Given the description of an element on the screen output the (x, y) to click on. 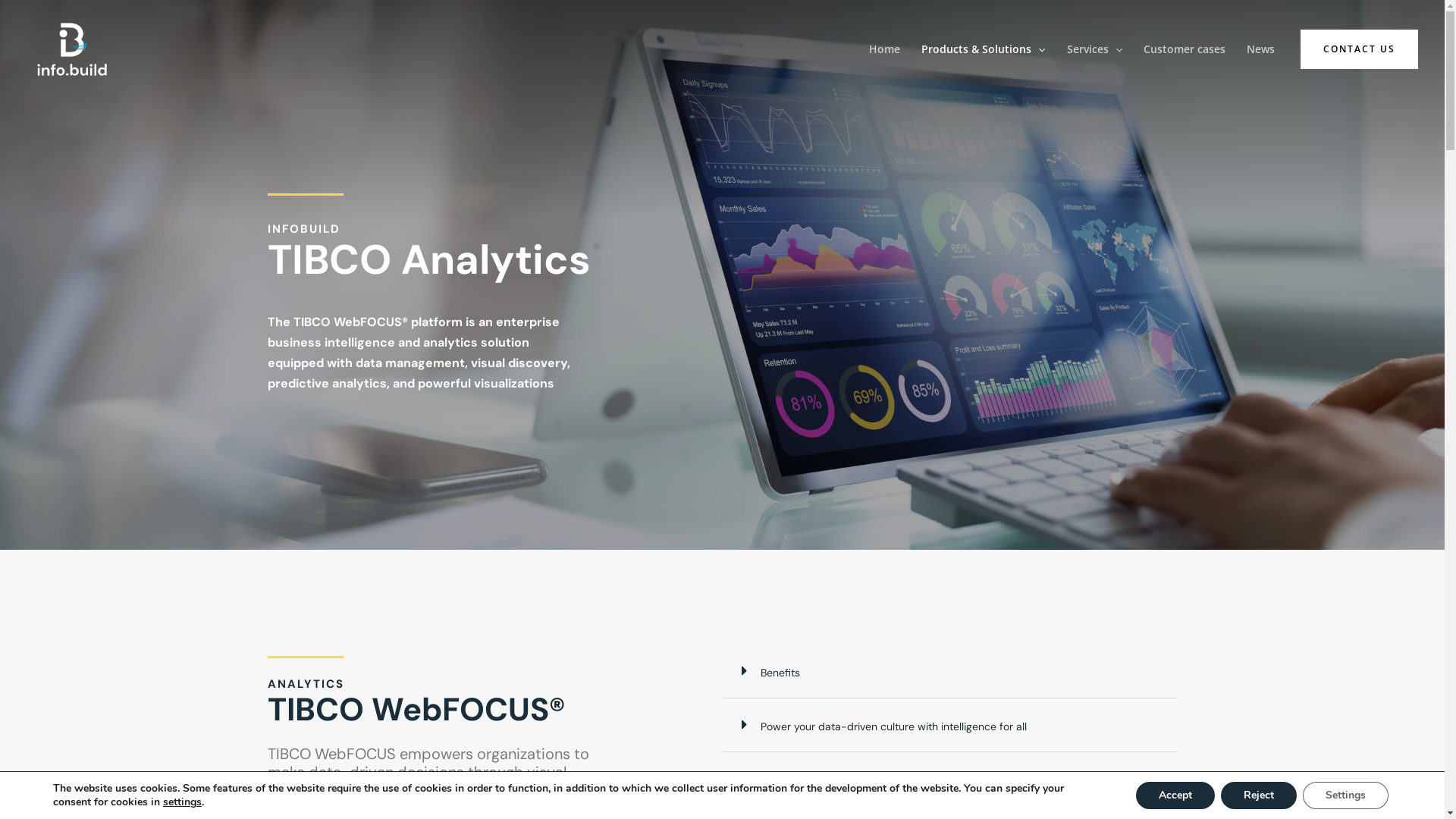
Products & Solutions Element type: text (982, 49)
Accept Element type: text (1174, 795)
Benefits Element type: text (779, 672)
Power your data-driven culture with intelligence for all Element type: text (892, 726)
News Element type: text (1260, 49)
Reject Element type: text (1258, 795)
Home Element type: text (884, 49)
settings Element type: text (182, 802)
Settings Element type: text (1345, 795)
Services Element type: text (1094, 49)
CONTACT US Element type: text (1359, 49)
Customer cases Element type: text (1184, 49)
